Given the description of an element on the screen output the (x, y) to click on. 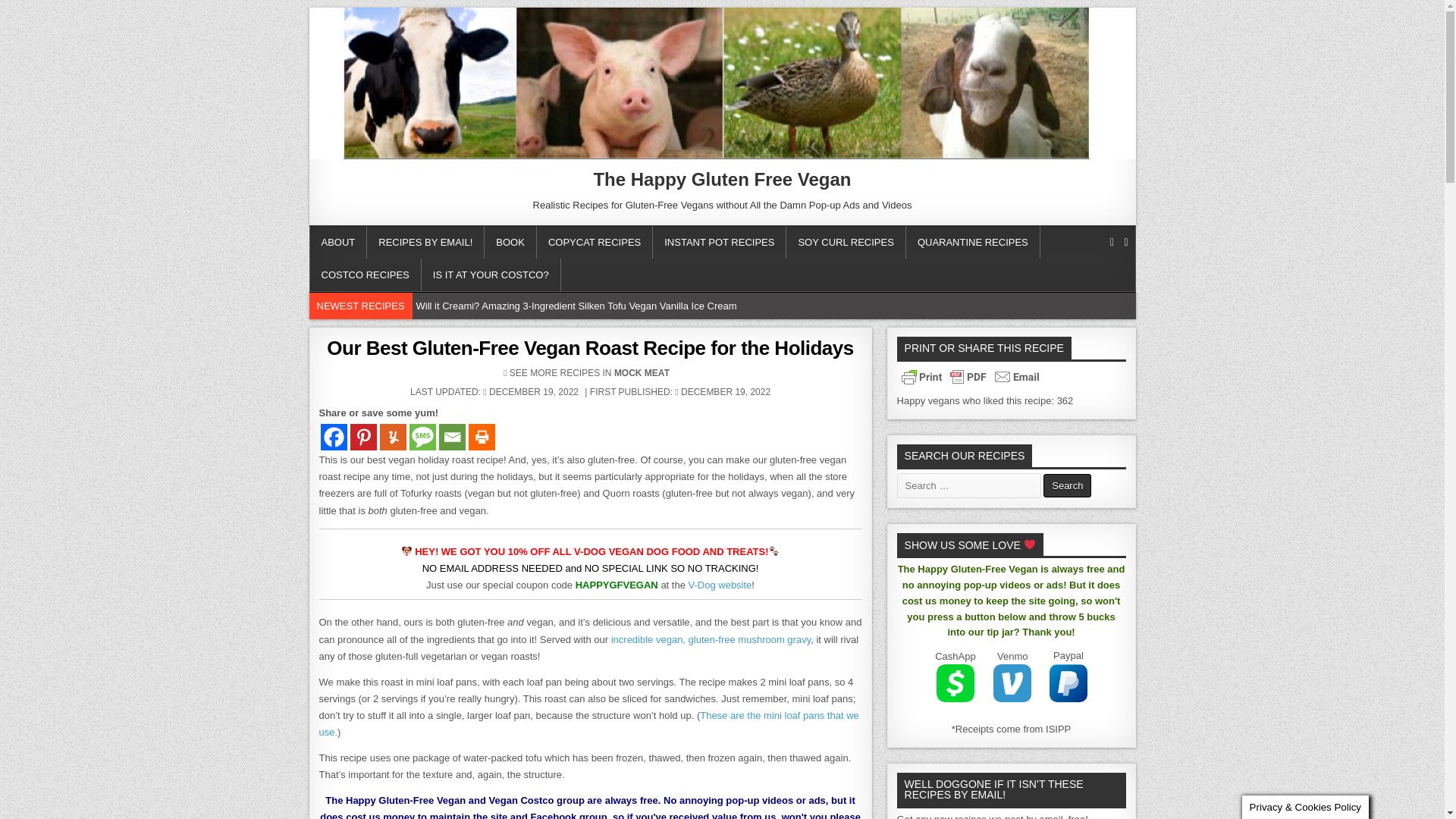
COSTCO RECIPES (364, 274)
MOCK MEAT (641, 372)
COPYCAT RECIPES (594, 242)
ABOUT (337, 242)
RECIPES BY EMAIL! (425, 242)
Recipes Containing Ingredients from Costco (364, 274)
Search (1066, 485)
The Happy Gluten Free Vegan (721, 178)
incredible vegan, gluten-free mushroom gravy (710, 639)
Pinterest (363, 437)
IS IT AT YOUR COSTCO? (491, 274)
V-Dog website (720, 584)
SOY CURL RECIPES (845, 242)
BOOK (510, 242)
